Given the description of an element on the screen output the (x, y) to click on. 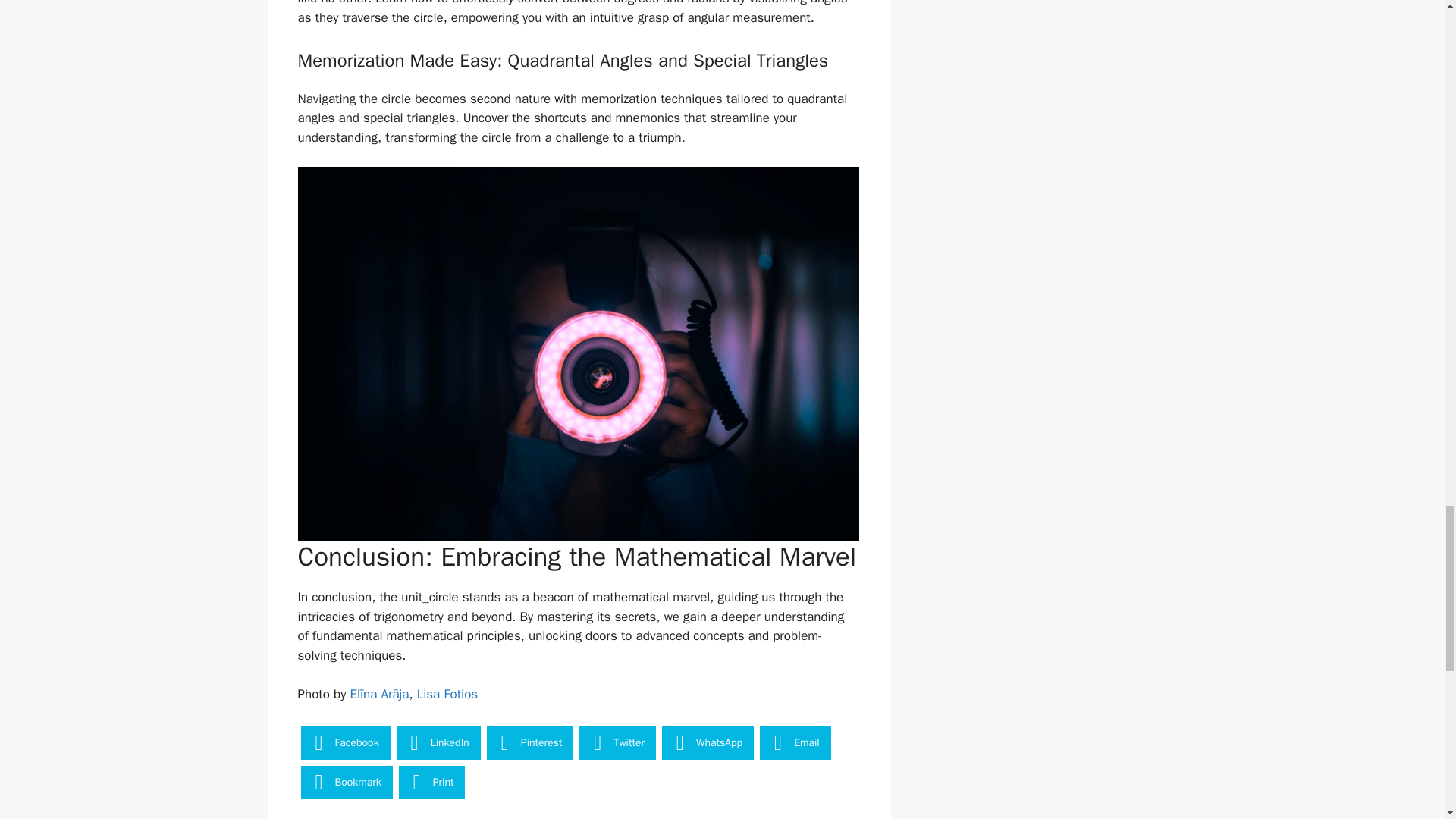
Share an image of this article on Pinterest (529, 743)
Email (795, 743)
Print (431, 782)
Lisa Fotios (446, 693)
Twitter (617, 743)
Share this article on Twitter (617, 743)
Facebook (344, 743)
Share this article on WhatsApp (708, 743)
Bookmark (345, 782)
WhatsApp (708, 743)
